Given the description of an element on the screen output the (x, y) to click on. 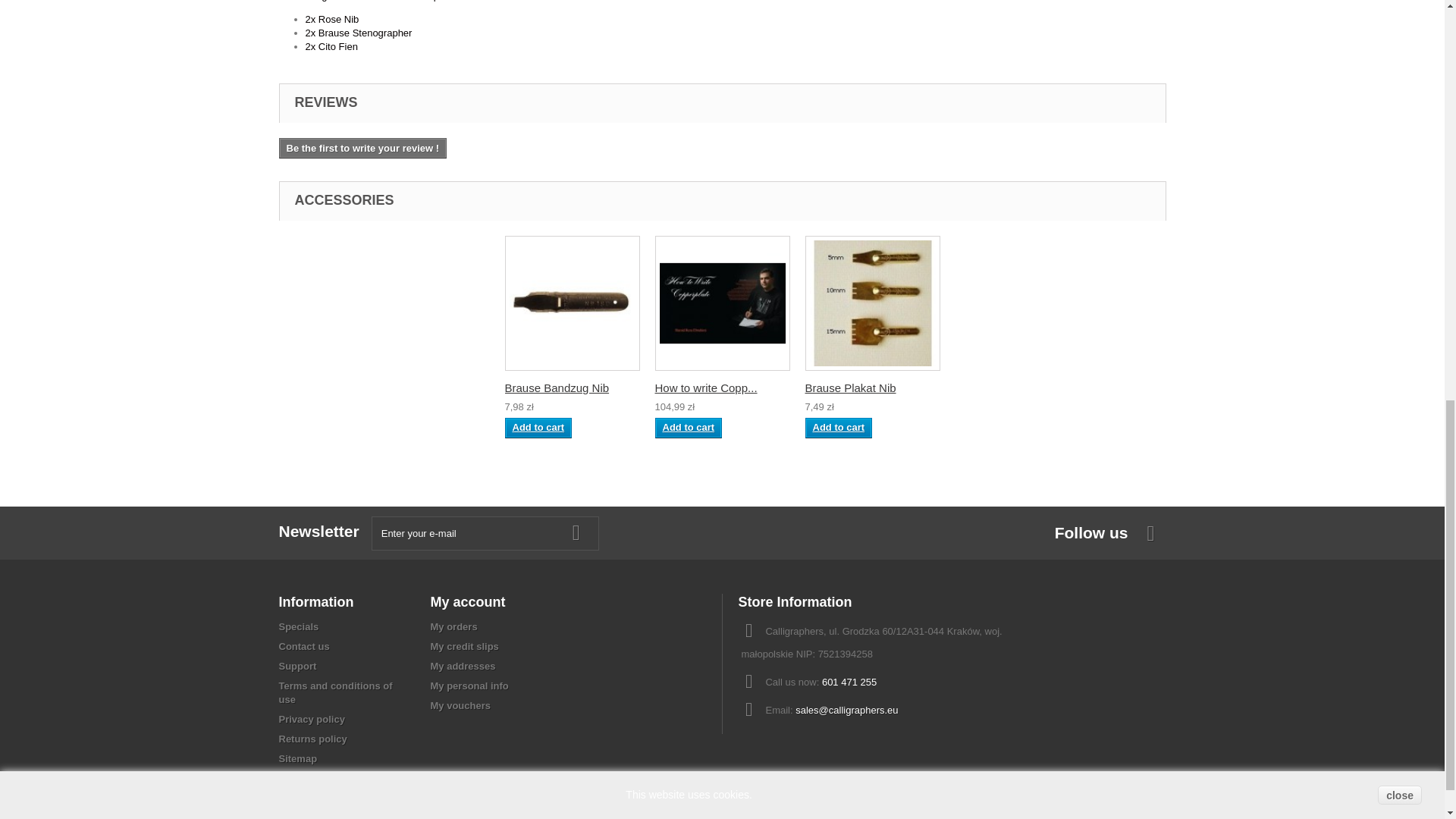
Enter your e-mail (484, 533)
